Given the description of an element on the screen output the (x, y) to click on. 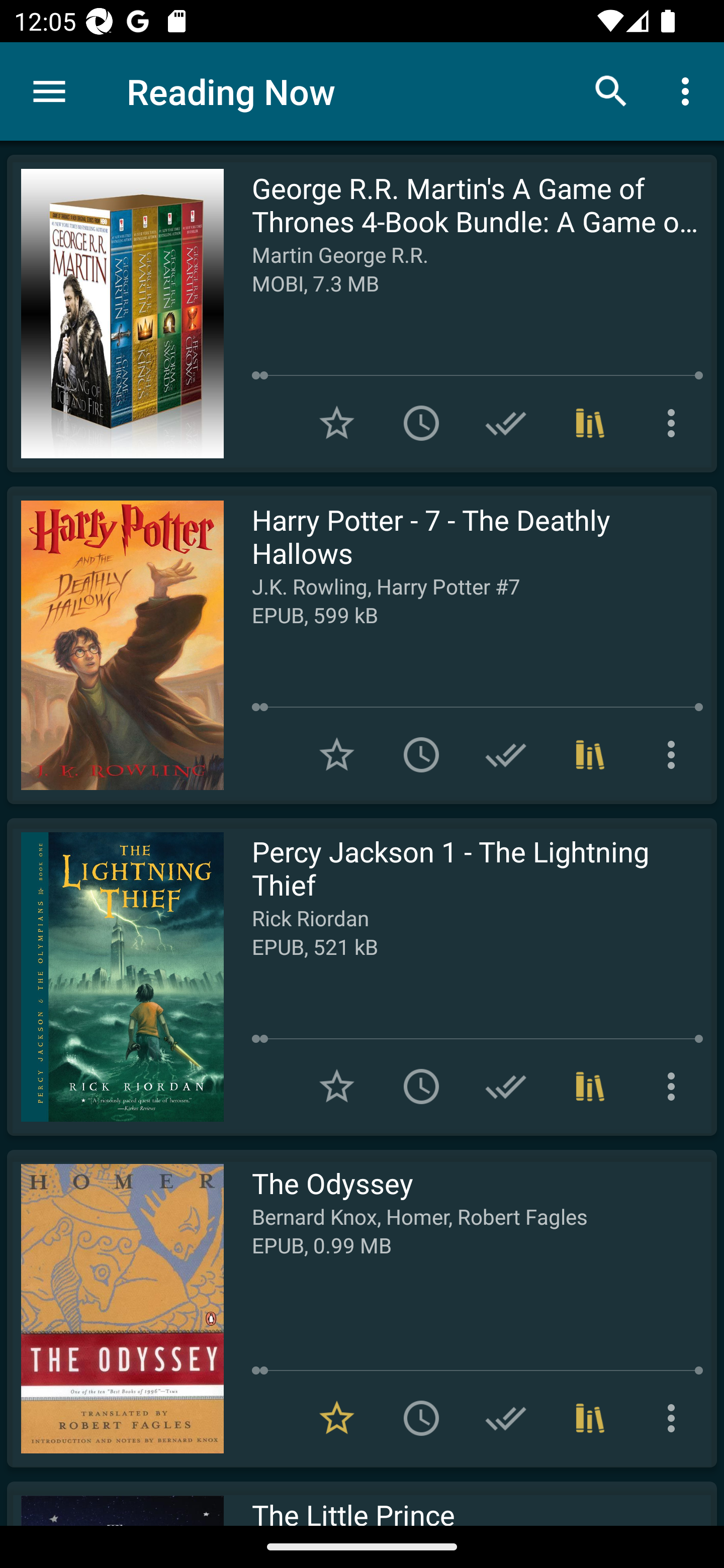
Menu (49, 91)
Search books & documents (611, 90)
More options (688, 90)
Add to Favorites (336, 423)
Add to To read (421, 423)
Add to Have read (505, 423)
Collections (1) (590, 423)
More options (674, 423)
Read Harry Potter - 7 - The Deathly Hallows (115, 645)
Add to Favorites (336, 753)
Add to To read (421, 753)
Add to Have read (505, 753)
Collections (1) (590, 753)
More options (674, 753)
Read Percy Jackson 1 - The Lightning Thief (115, 976)
Add to Favorites (336, 1086)
Add to To read (421, 1086)
Add to Have read (505, 1086)
Collections (1) (590, 1086)
More options (674, 1086)
Read The Odyssey (115, 1308)
Remove from Favorites (336, 1417)
Add to To read (421, 1417)
Add to Have read (505, 1417)
Collections (2) (590, 1417)
More options (674, 1417)
